Given the description of an element on the screen output the (x, y) to click on. 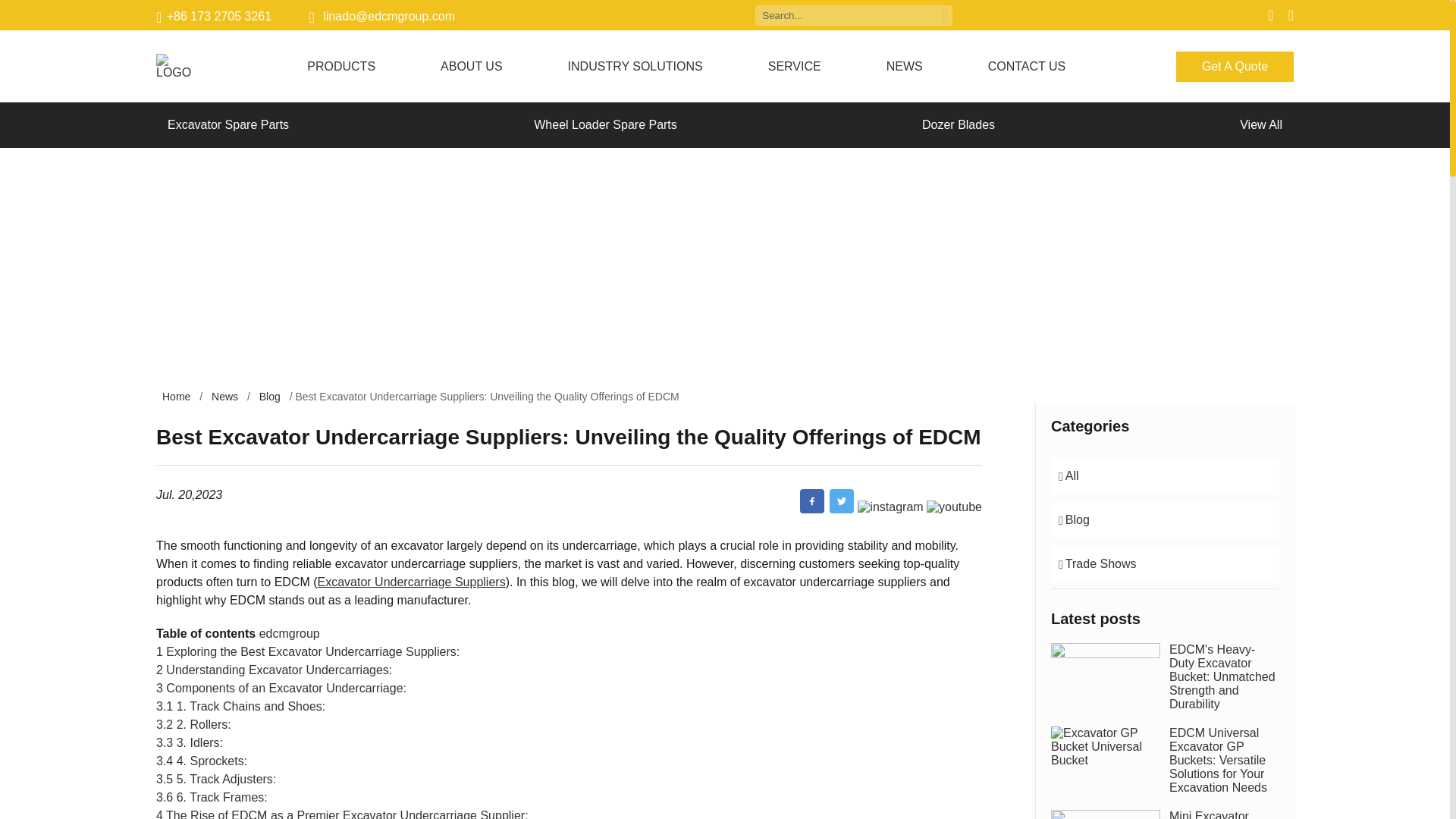
SERVICE (794, 65)
Home (175, 396)
Excavator Spare Parts (227, 124)
Dozer Blades (958, 124)
2 Understanding Excavator Undercarriages: (273, 669)
3.6 6. Track Frames: (211, 797)
3.2 2. Rollers: (193, 724)
1 Exploring the Best Excavator Undercarriage Suppliers: (307, 651)
ABOUT US (471, 65)
edcmgroup (289, 633)
